Given the description of an element on the screen output the (x, y) to click on. 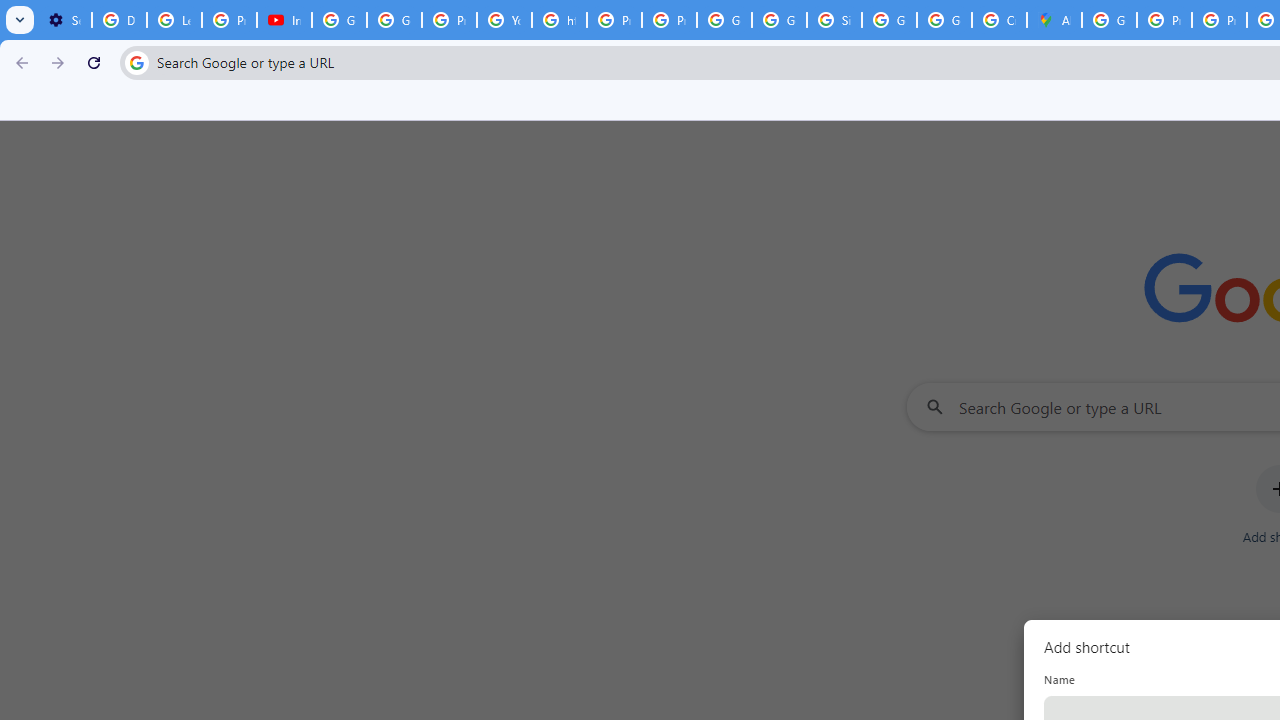
Learn how to find your photos - Google Photos Help (174, 20)
Privacy Help Center - Policies Help (614, 20)
Settings - Performance (64, 20)
https://scholar.google.com/ (559, 20)
Privacy Help Center - Policies Help (1163, 20)
YouTube (504, 20)
Search icon (136, 62)
